Given the description of an element on the screen output the (x, y) to click on. 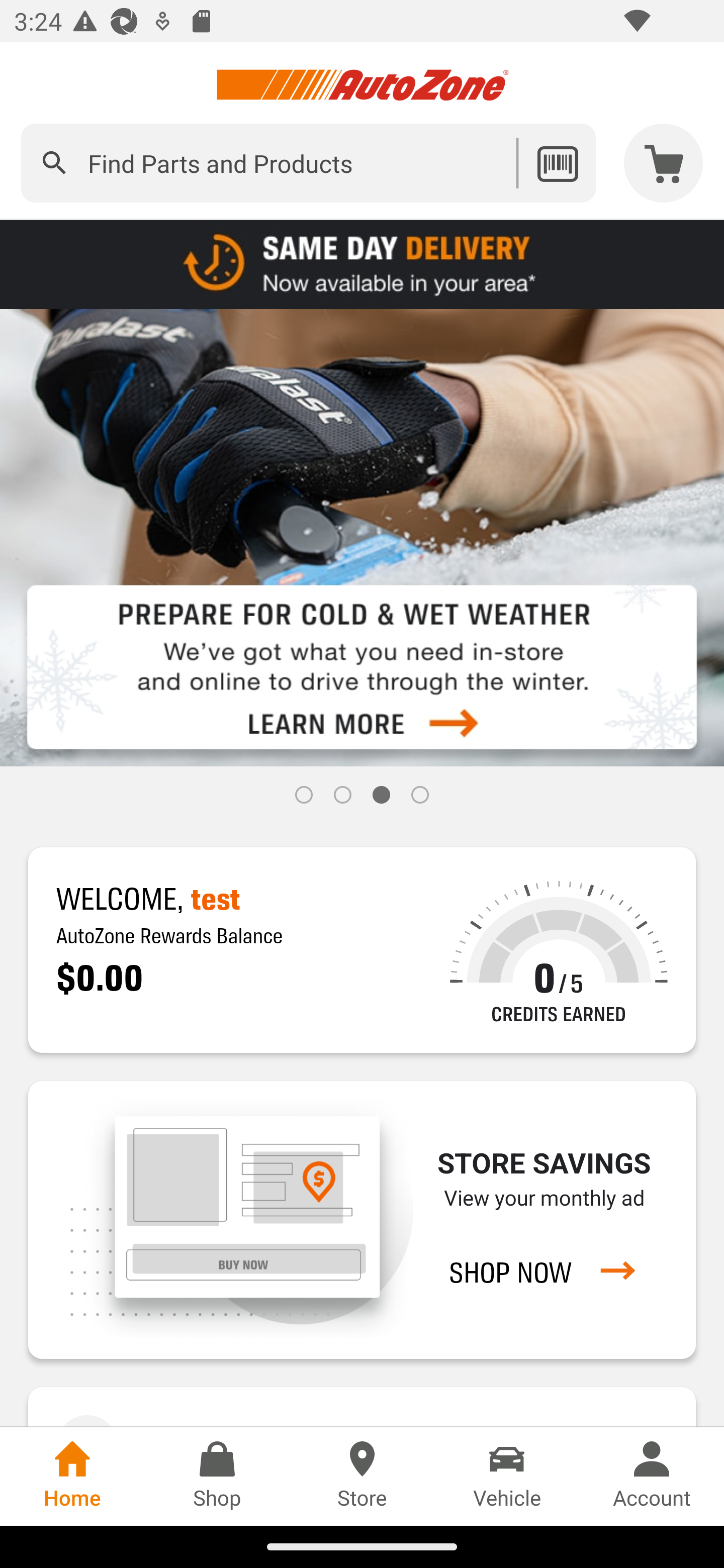
 scan-product-to-search  (557, 162)
 (54, 163)
Cart, no items  (663, 162)
Same Day Delivery - now available in your area* (362, 262)
Home (72, 1475)
Shop (216, 1475)
Store (361, 1475)
Vehicle (506, 1475)
Account (651, 1475)
